Given the description of an element on the screen output the (x, y) to click on. 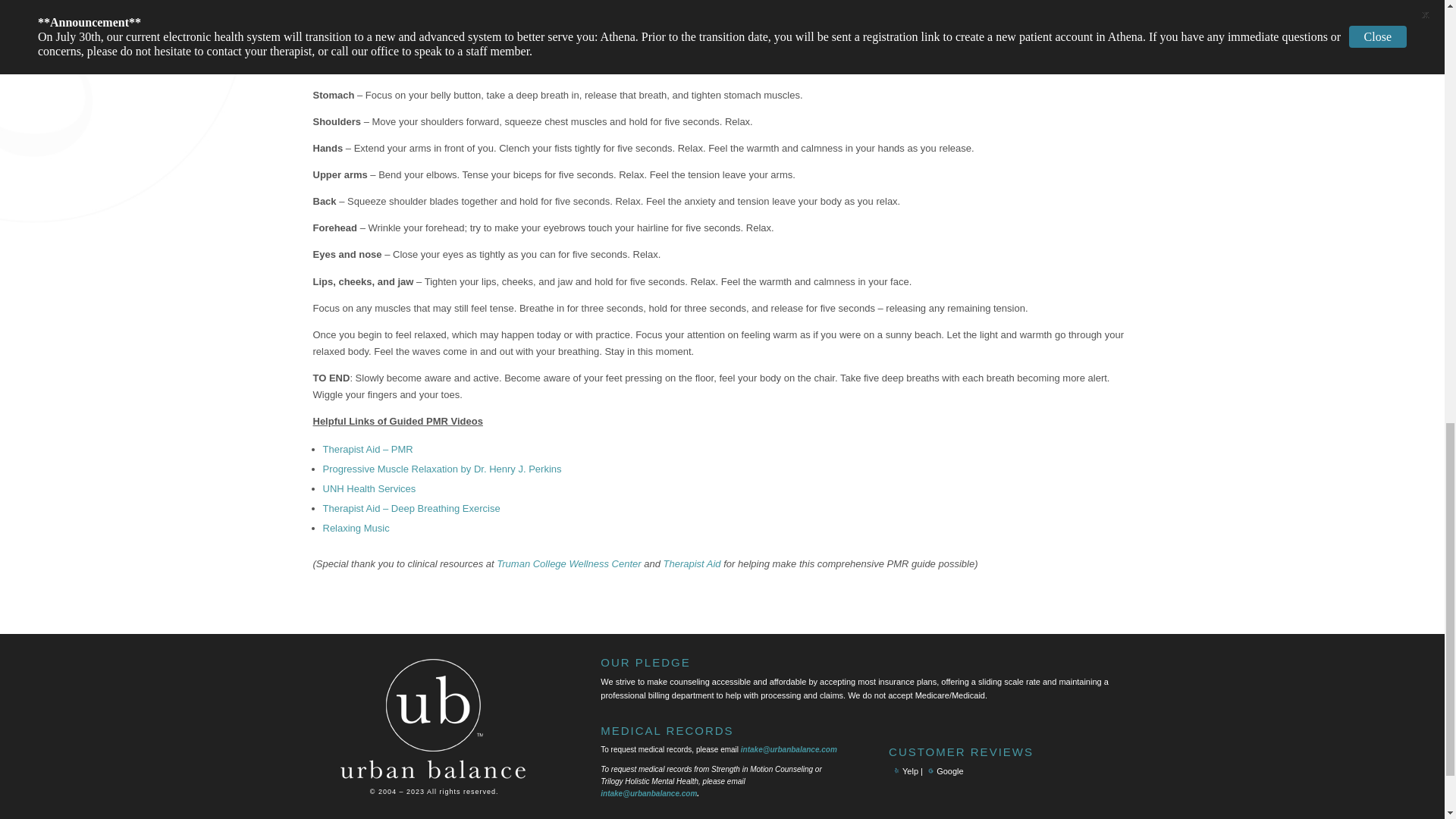
Urban Balance Logo (434, 719)
